Given the description of an element on the screen output the (x, y) to click on. 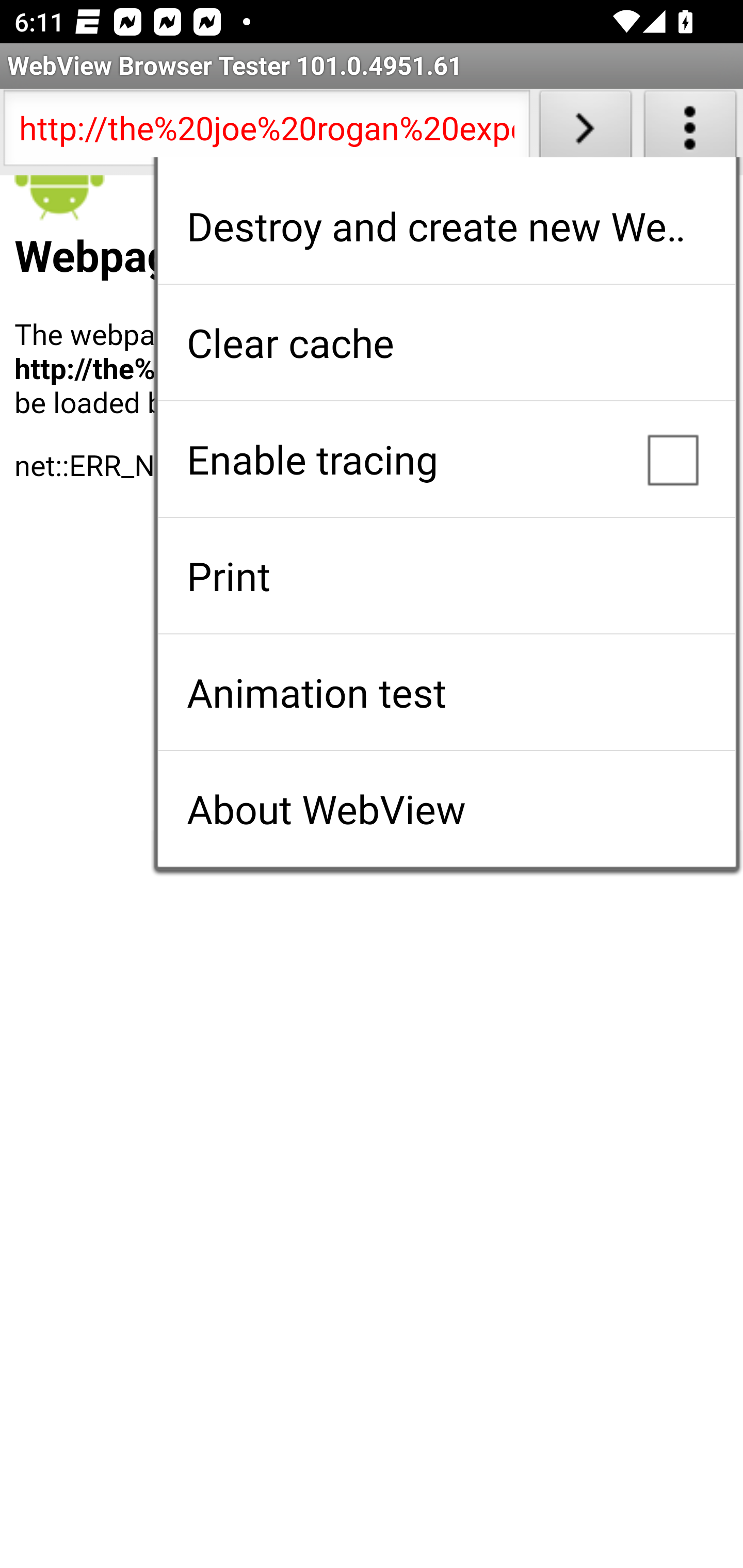
Destroy and create new WebView (446, 225)
Clear cache (446, 342)
Enable tracing (446, 459)
Print (446, 575)
Animation test (446, 692)
About WebView (446, 809)
